Given the description of an element on the screen output the (x, y) to click on. 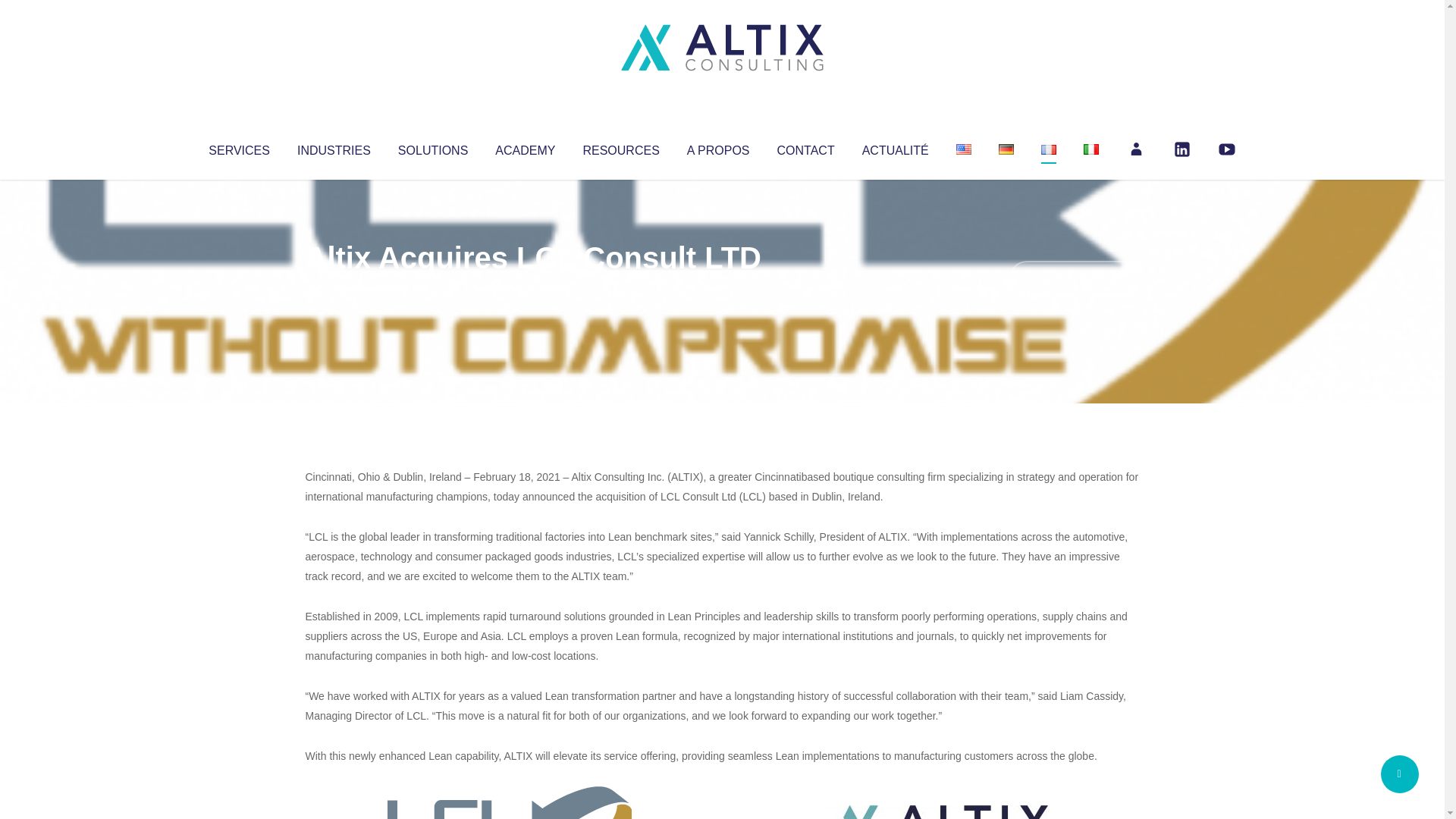
ACADEMY (524, 146)
No Comments (1073, 278)
RESOURCES (620, 146)
A PROPOS (718, 146)
SOLUTIONS (432, 146)
Altix (333, 287)
Uncategorized (530, 287)
INDUSTRIES (334, 146)
Articles par Altix (333, 287)
SERVICES (238, 146)
